Given the description of an element on the screen output the (x, y) to click on. 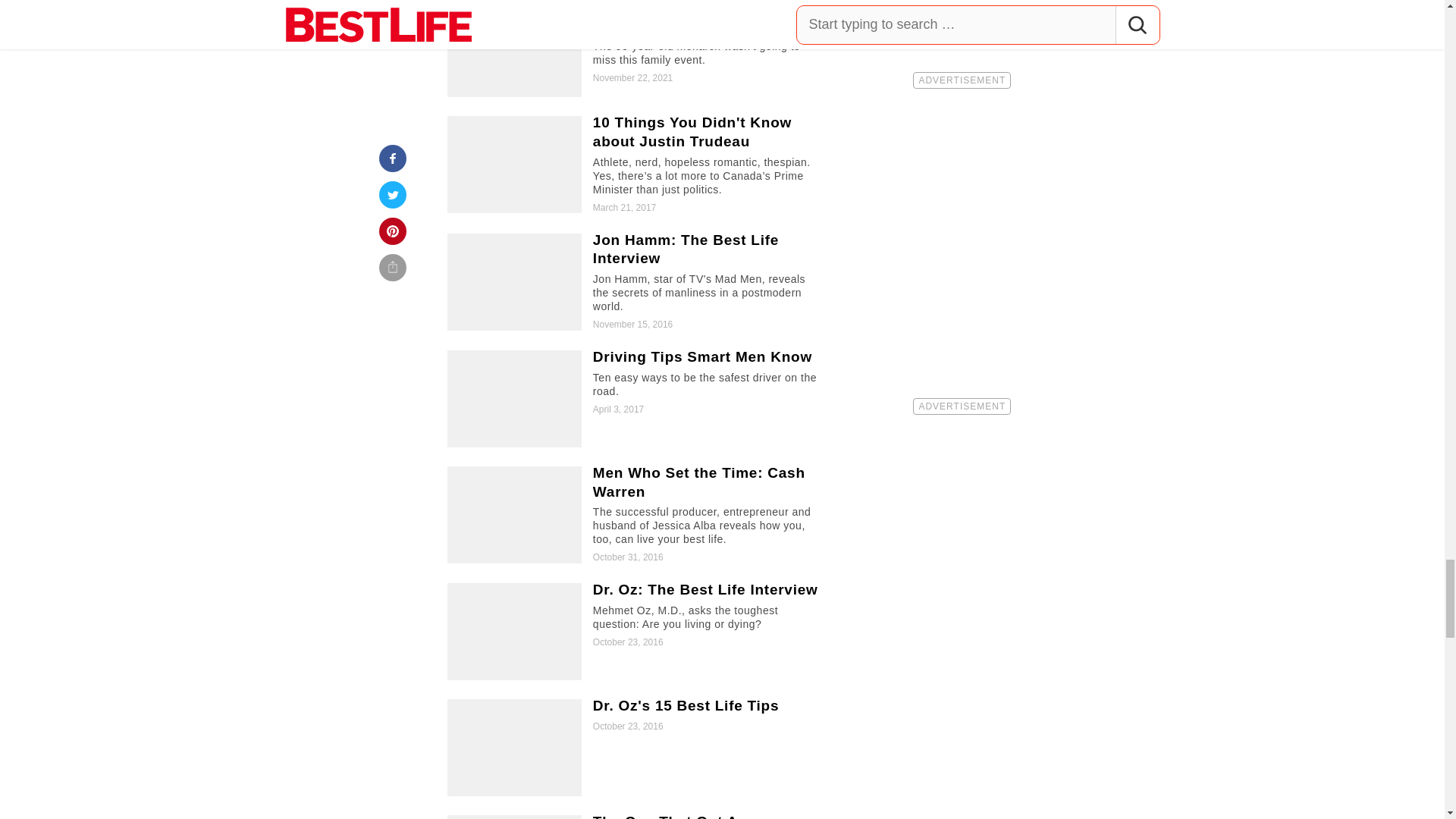
Queen Elizabeth Makes a Rare Apperance (635, 48)
Dr. Oz's 15 Best Life Tips (635, 747)
Dr. Oz: The Best Life Interview (635, 631)
10 Things You Didn't Know about Justin Trudeau (635, 164)
Jon Hamm: The Best Life Interview (635, 282)
Men Who Set the Time: Cash Warren (635, 515)
Driving Tips Smart Men Know (635, 398)
